Given the description of an element on the screen output the (x, y) to click on. 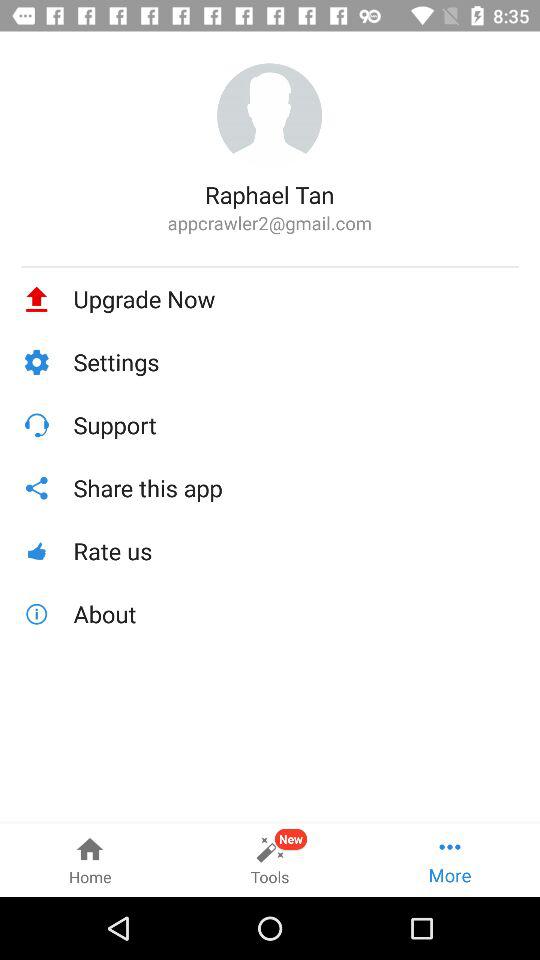
open appcrawler2@gmail.com icon (269, 222)
